Given the description of an element on the screen output the (x, y) to click on. 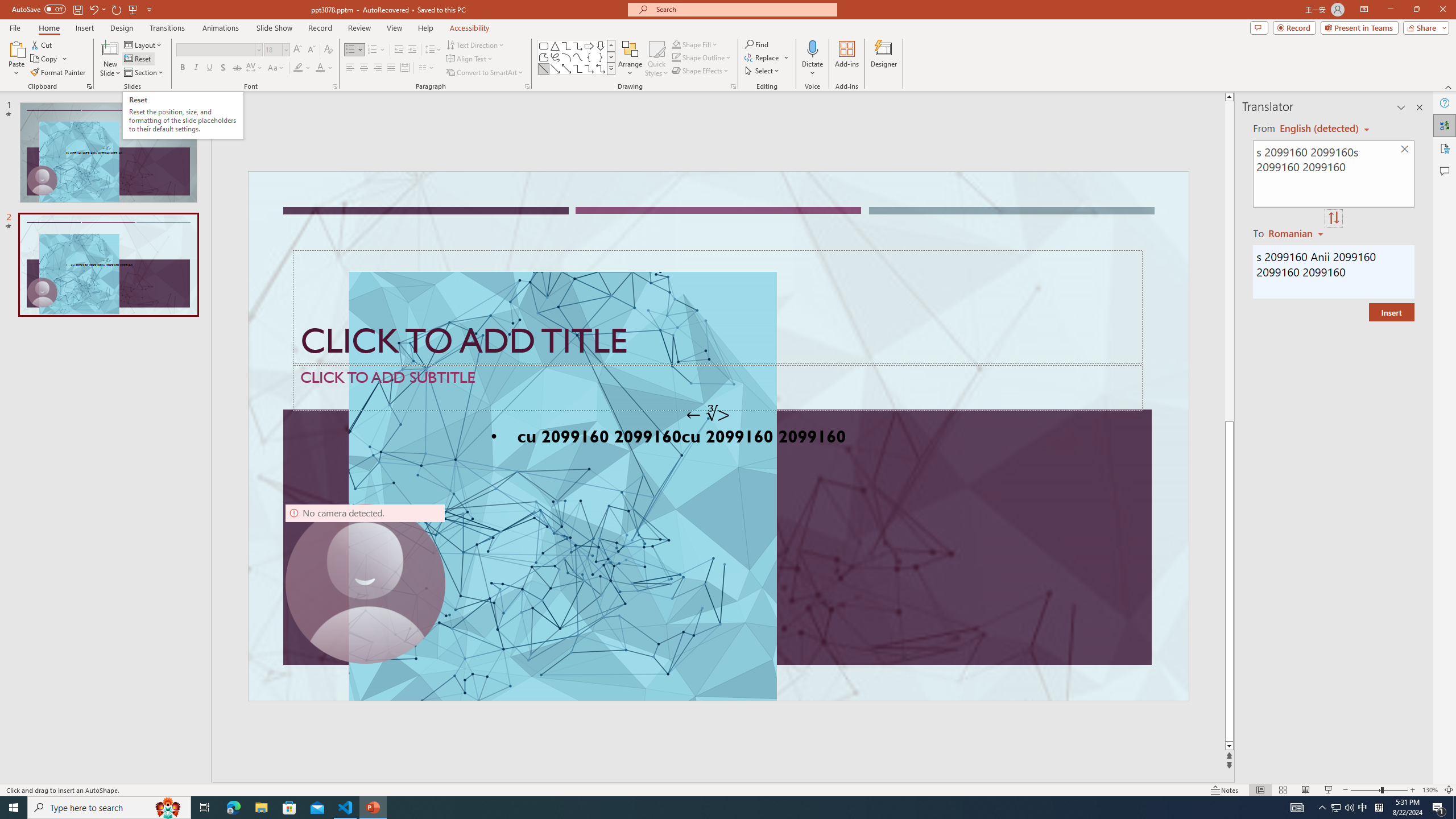
Font Color (324, 67)
Find... (756, 44)
Isosceles Triangle (554, 45)
Shape Outline Green, Accent 1 (675, 56)
Convert to SmartArt (485, 72)
Freeform: Scribble (554, 57)
Clear Formatting (327, 49)
Font... (334, 85)
AutomationID: ShapesInsertGallery (576, 57)
Increase Font Size (297, 49)
TextBox 7 (708, 414)
